Given the description of an element on the screen output the (x, y) to click on. 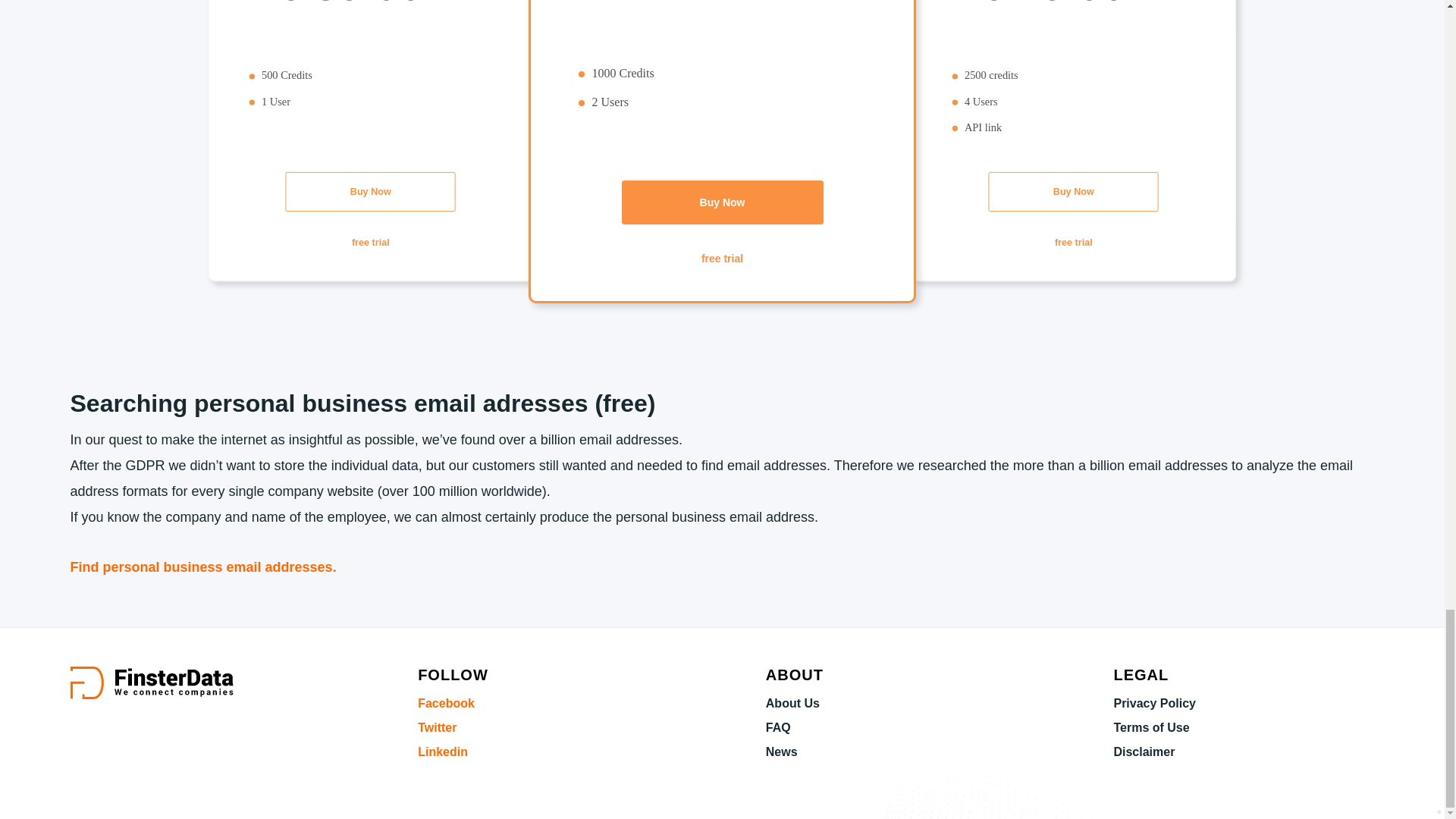
Buy Now (1082, 192)
Twitter (437, 727)
FAQ (777, 727)
free trial (721, 258)
free trial (1082, 242)
Buy Now (379, 192)
Buy Now (720, 201)
Disclaimer (1143, 751)
Privacy Policy (1154, 703)
About Us (792, 703)
News (781, 751)
free trial (378, 242)
Linkedin (442, 751)
Terms of Use (1151, 727)
Facebook (445, 703)
